Given the description of an element on the screen output the (x, y) to click on. 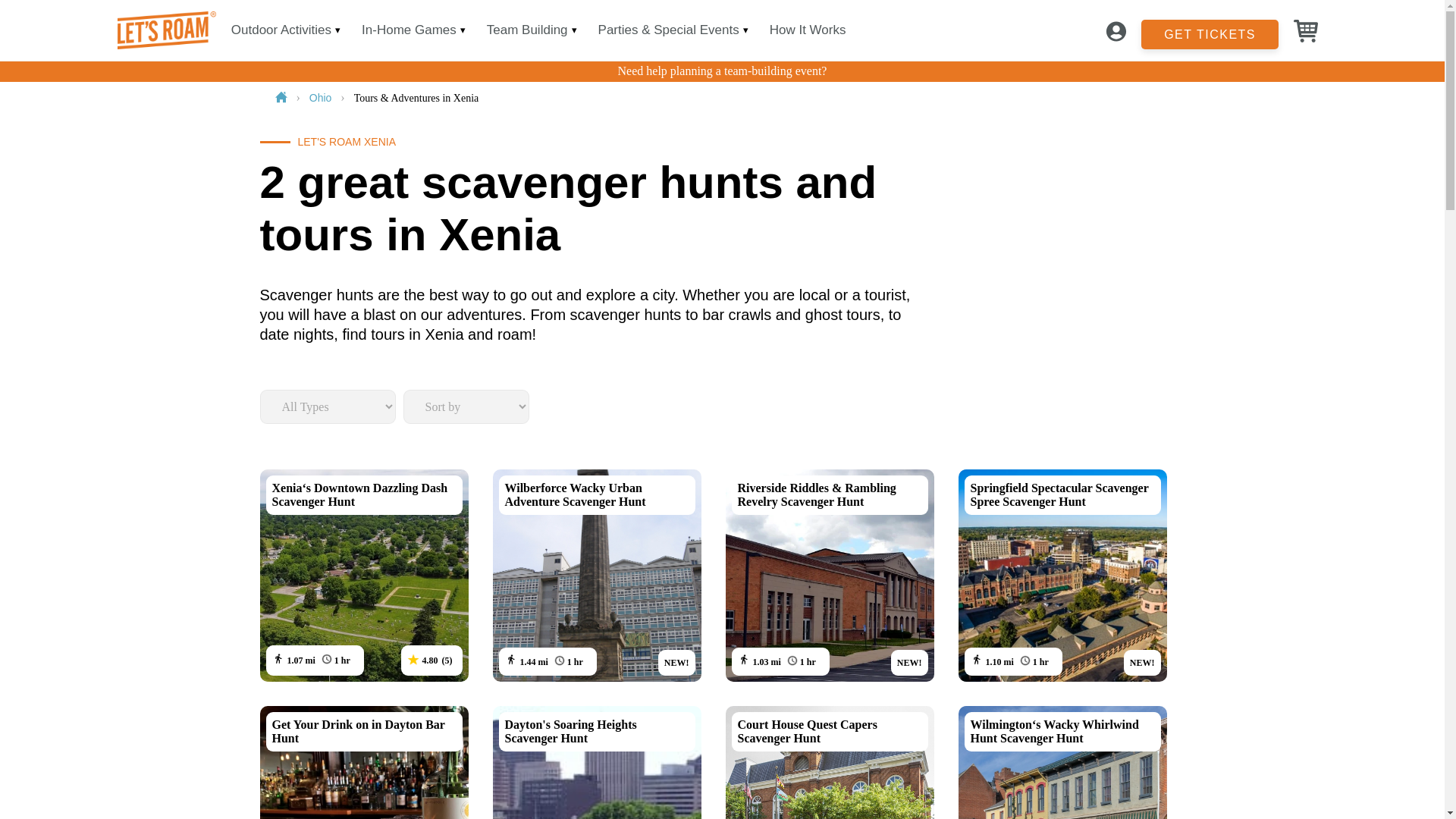
GET TICKETS (1209, 34)
In-Home Games (408, 30)
GET TICKETS (1209, 30)
Outdoor Activities (280, 30)
How It Works (807, 30)
Let's Roam Scavenger Hunts (164, 30)
In-Home Games (408, 30)
Outdoor Activities (280, 30)
Ohio (321, 97)
